Given the description of an element on the screen output the (x, y) to click on. 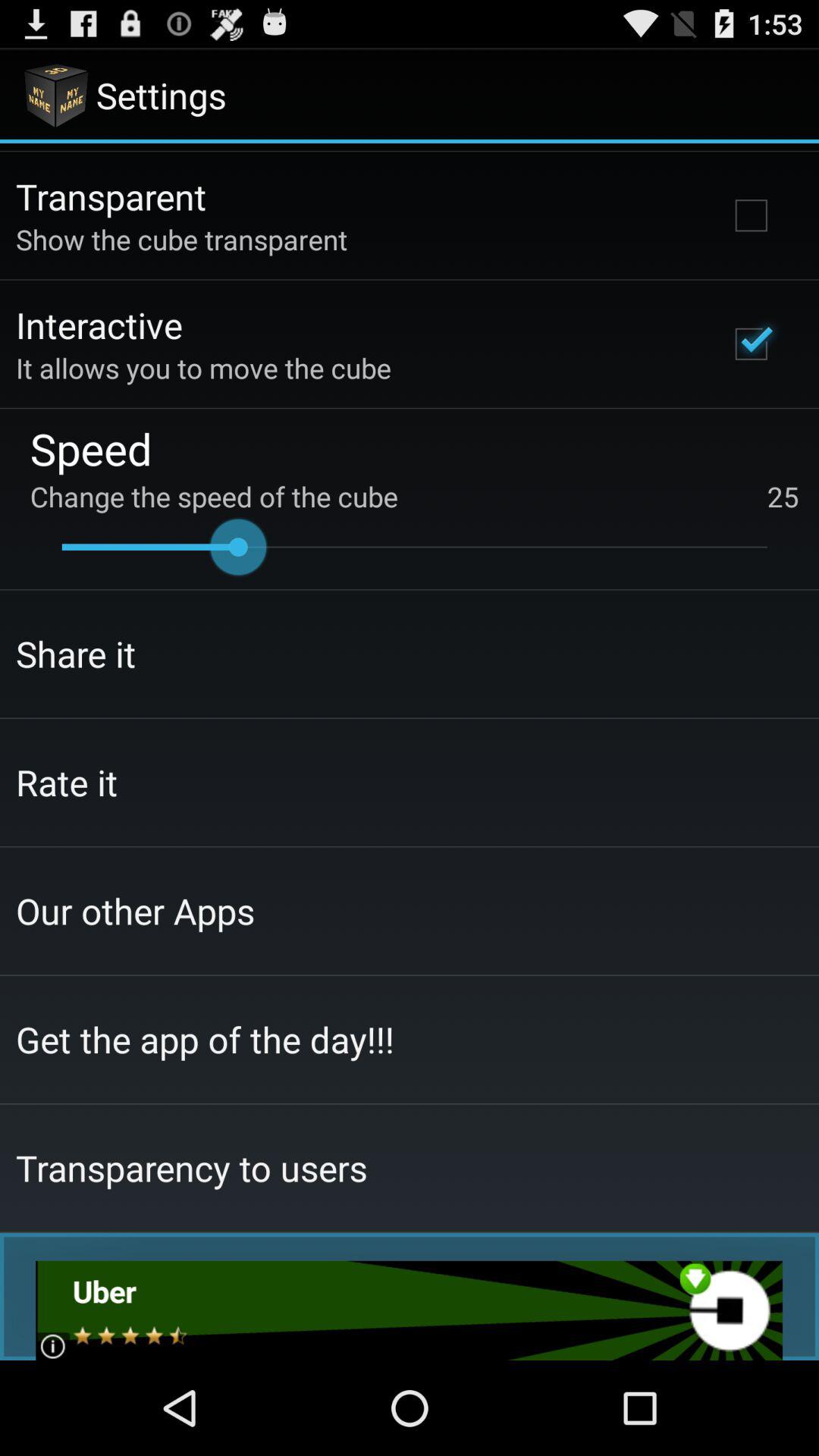
choose the item below the get the app app (191, 1167)
